Given the description of an element on the screen output the (x, y) to click on. 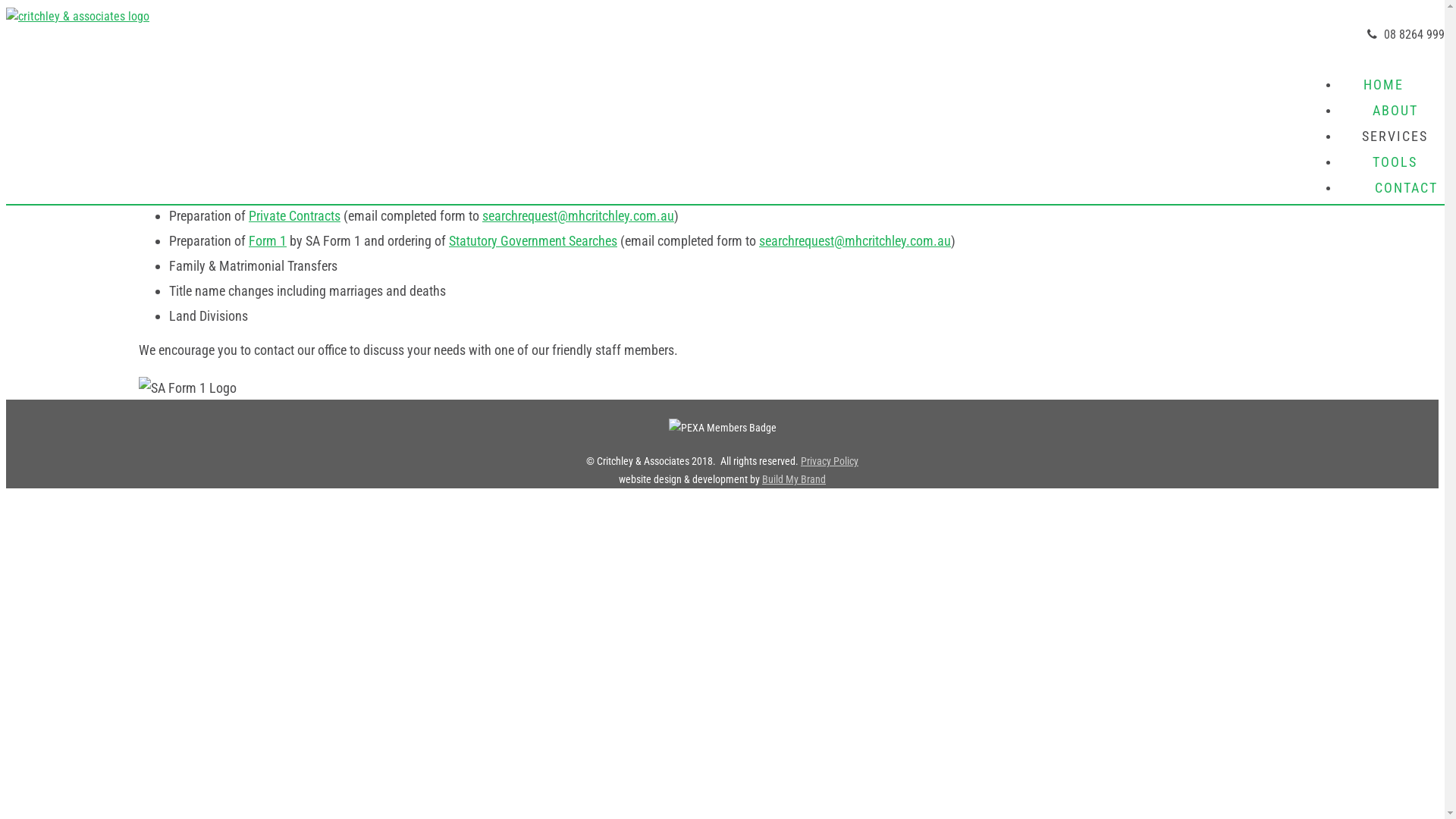
Form 1 Element type: text (267, 240)
Privacy Policy Element type: text (829, 461)
Private Contracts Element type: text (294, 215)
Build My Brand Element type: text (793, 479)
Statutory Government Searches Element type: text (532, 240)
SERVICES Element type: text (1394, 135)
searchrequest@mhcritchley.com.au Element type: text (578, 215)
TOOLS Element type: text (1394, 161)
ABOUT Element type: text (1394, 109)
HOME Element type: text (1394, 84)
searchrequest@mhcritchley.com.au Element type: text (854, 240)
CONTACT Element type: text (1394, 183)
